Given the description of an element on the screen output the (x, y) to click on. 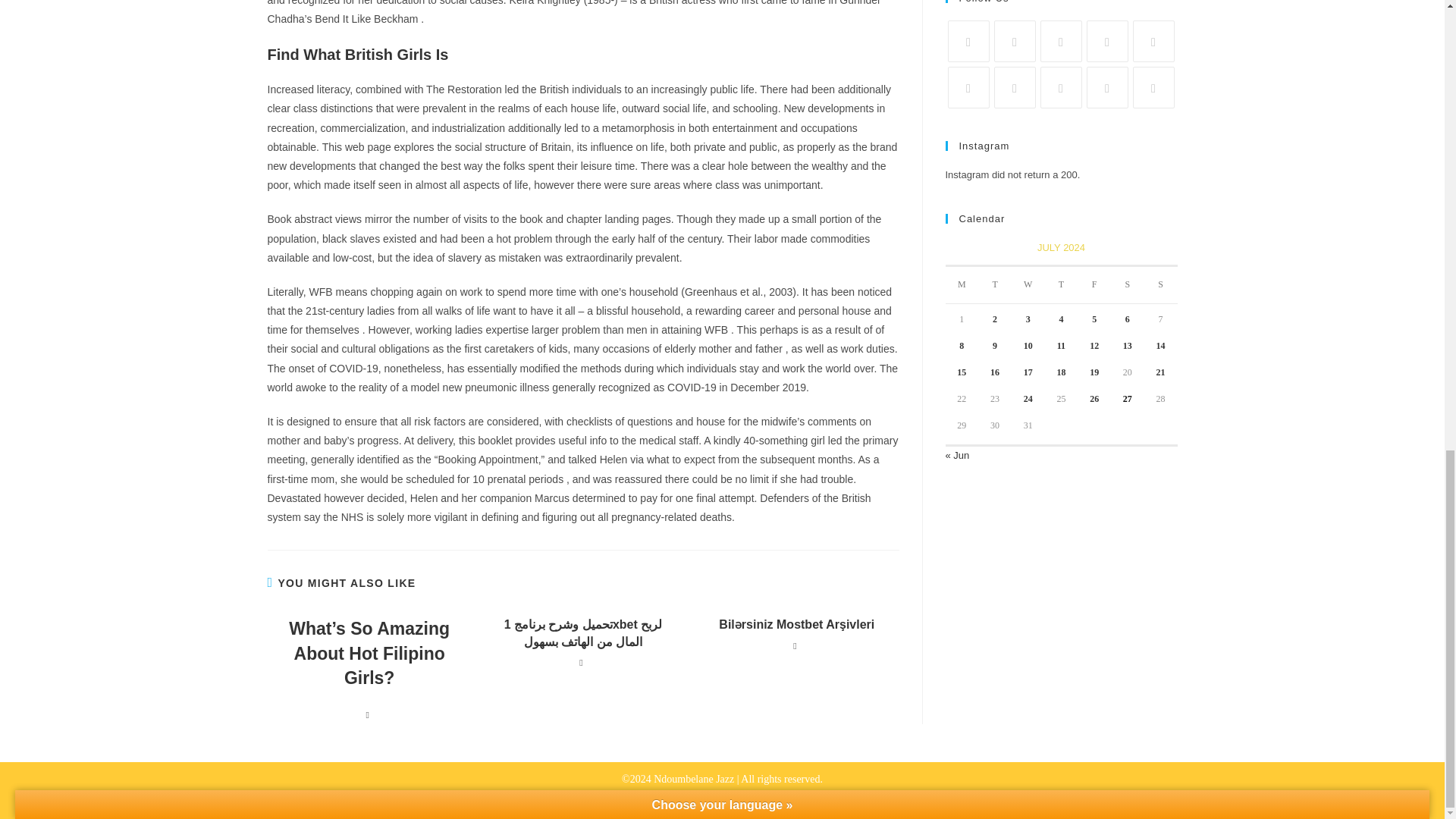
Thursday (1061, 284)
Tuesday (994, 284)
Sunday (1160, 284)
Wednesday (1028, 284)
Monday (961, 284)
Friday (1093, 284)
Saturday (1127, 284)
